Given the description of an element on the screen output the (x, y) to click on. 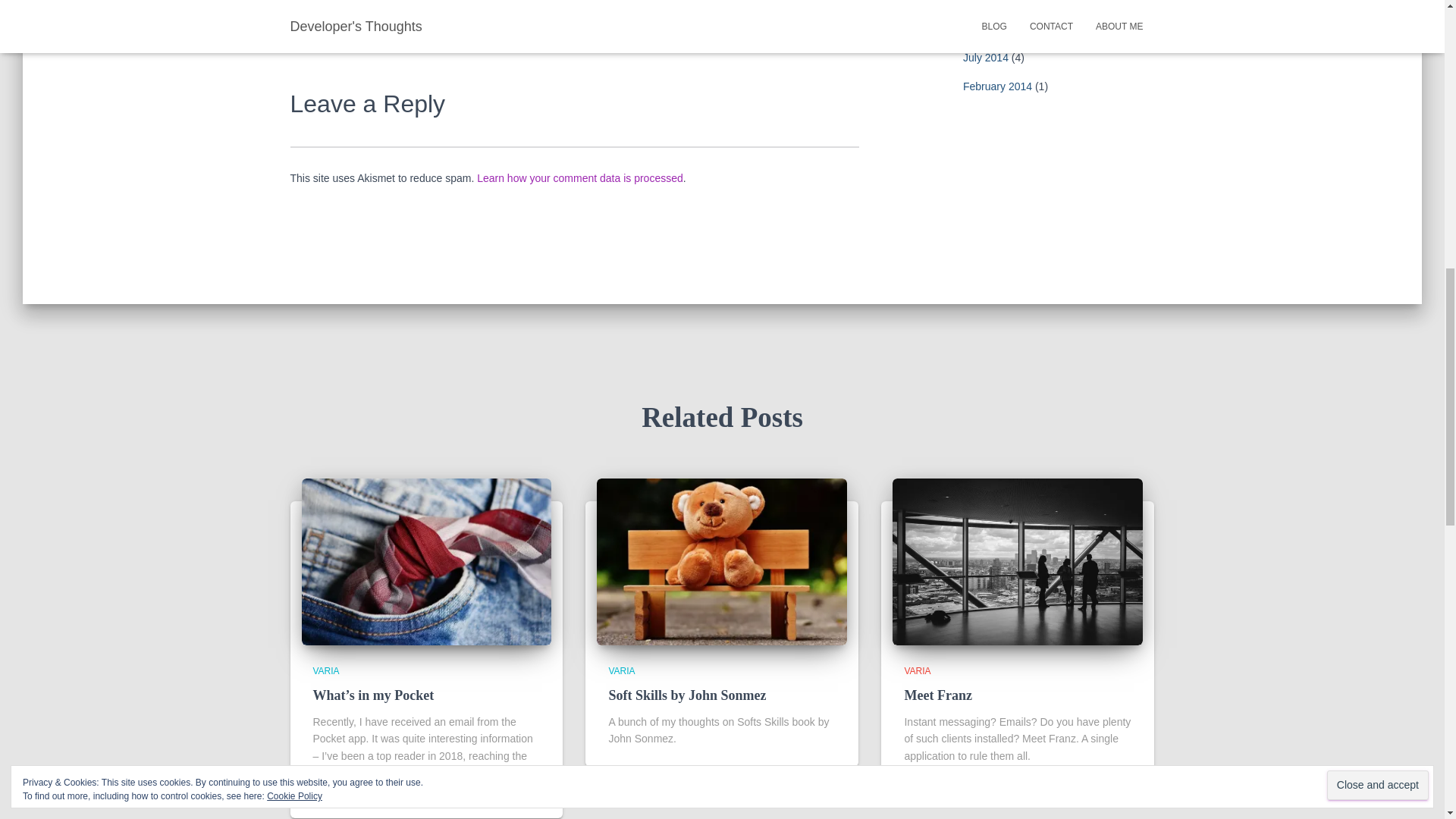
View all posts in varia (621, 670)
Learn how your comment data is processed (579, 177)
February 2014 (997, 86)
VARIA (326, 670)
Soft Skills by John Sonmez (721, 561)
July 2014 (985, 57)
View all posts in varia (326, 670)
February 2015 (997, 2)
January 2015 (994, 28)
